Given the description of an element on the screen output the (x, y) to click on. 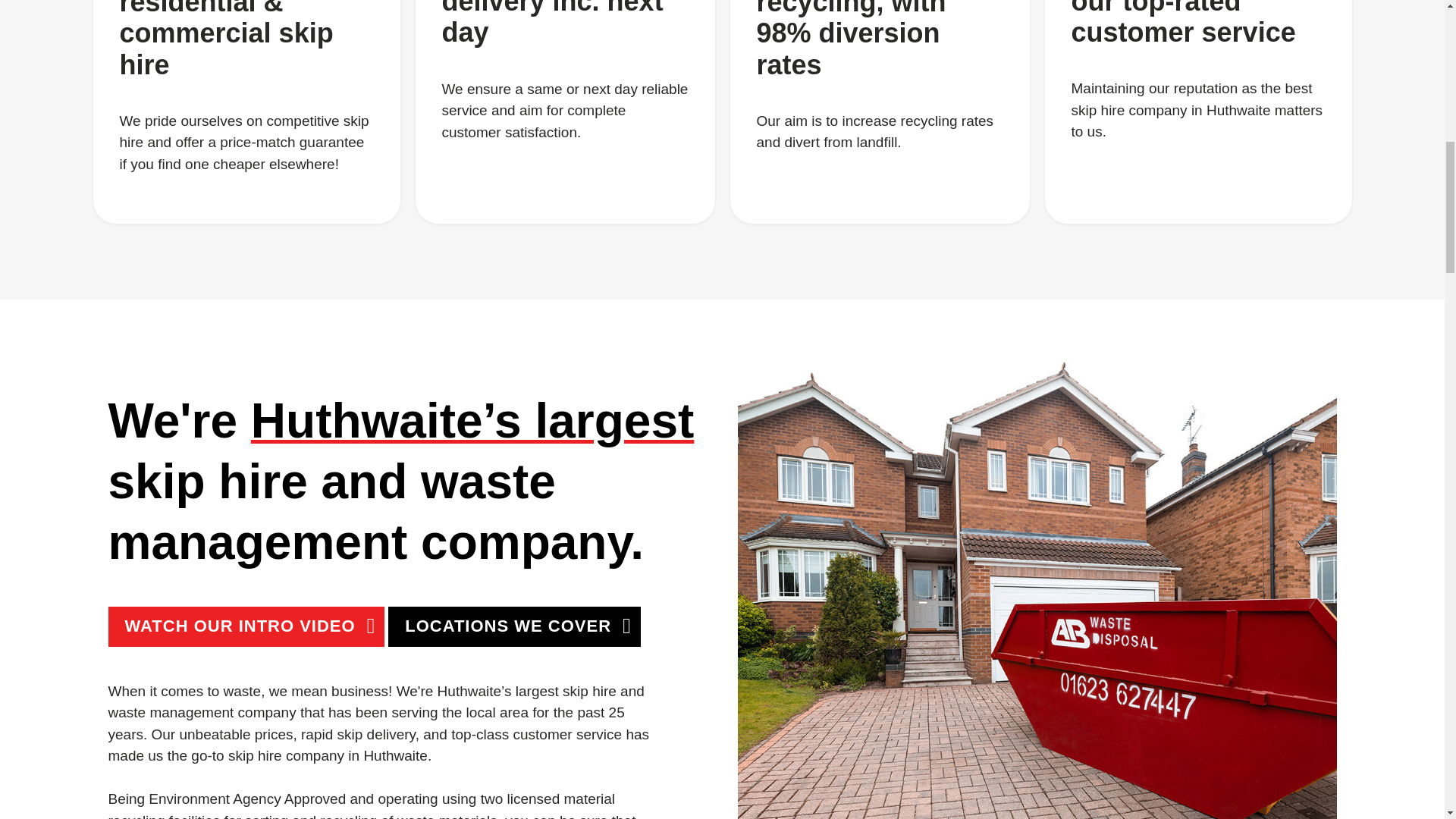
LOCATIONS WE COVER (514, 626)
WATCH OUR INTRO VIDEO (245, 626)
